Given the description of an element on the screen output the (x, y) to click on. 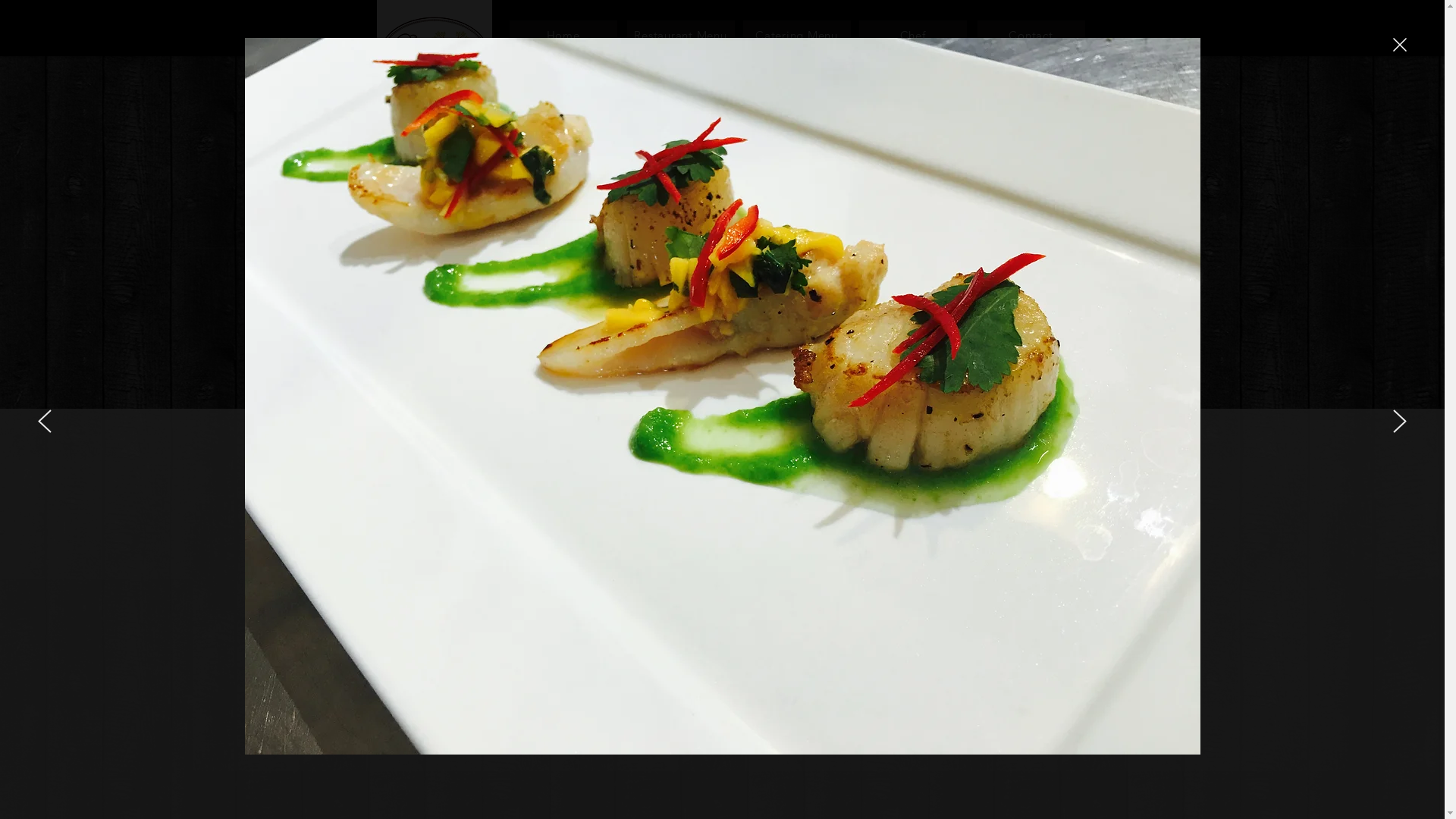
DMK-THE KITCHEN Element type: text (433, 109)
Catering Menu Element type: text (796, 34)
Home Element type: text (563, 34)
Log In Element type: text (1039, 56)
dmk.broome@yahoo.com.au Element type: text (453, 641)
08 9193 6272 Element type: text (449, 623)
Contact Element type: text (1030, 34)
Restaurant Menu Element type: text (680, 34)
Chef Element type: text (912, 34)
